Given the description of an element on the screen output the (x, y) to click on. 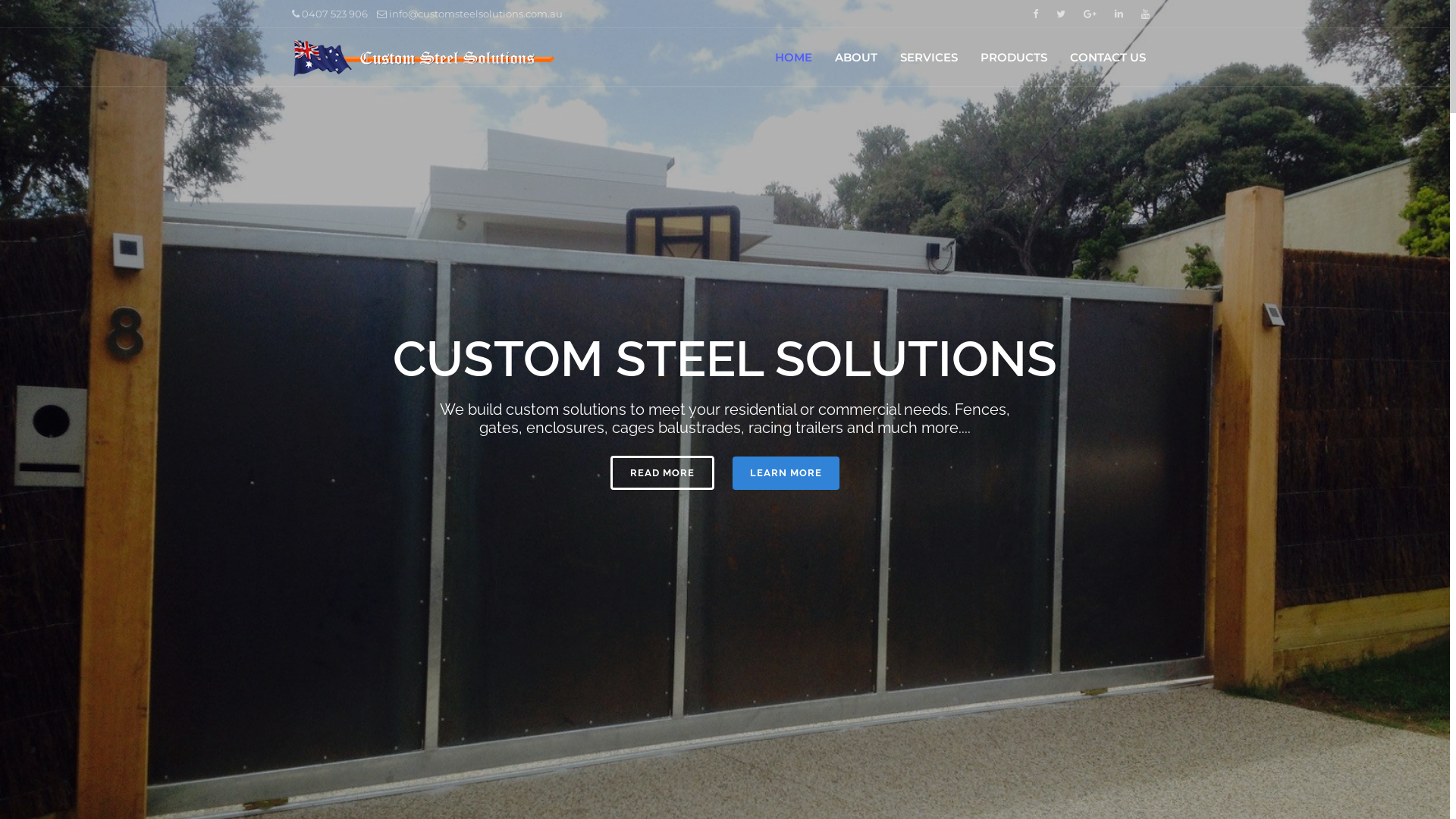
CONTACT US Element type: text (1107, 57)
HOME Element type: text (793, 57)
SERVICES Element type: text (928, 57)
PRODUCTS Element type: text (1013, 57)
ABOUT Element type: text (855, 57)
READ MORE Element type: text (662, 472)
LEARN MORE Element type: text (785, 472)
